Given the description of an element on the screen output the (x, y) to click on. 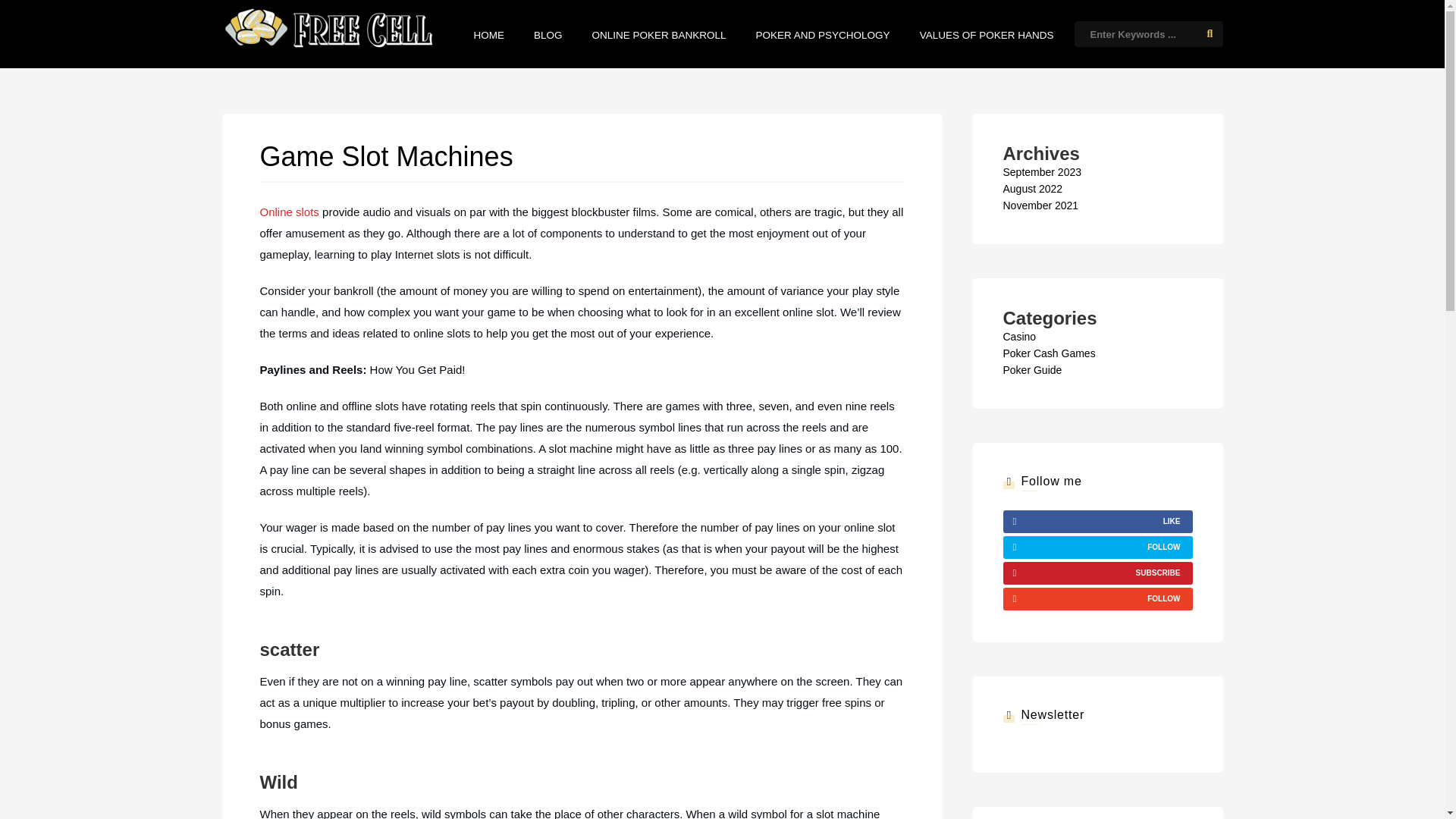
Poker Cash Games (1048, 353)
VALUES OF POKER HANDS (987, 35)
Online slots (288, 211)
ONLINE POKER BANKROLL (659, 35)
POKER AND PSYCHOLOGY (822, 35)
September 2023 (1042, 172)
November 2021 (1040, 205)
LIKE (1097, 521)
Poker Guide (1032, 369)
August 2022 (1032, 188)
